Given the description of an element on the screen output the (x, y) to click on. 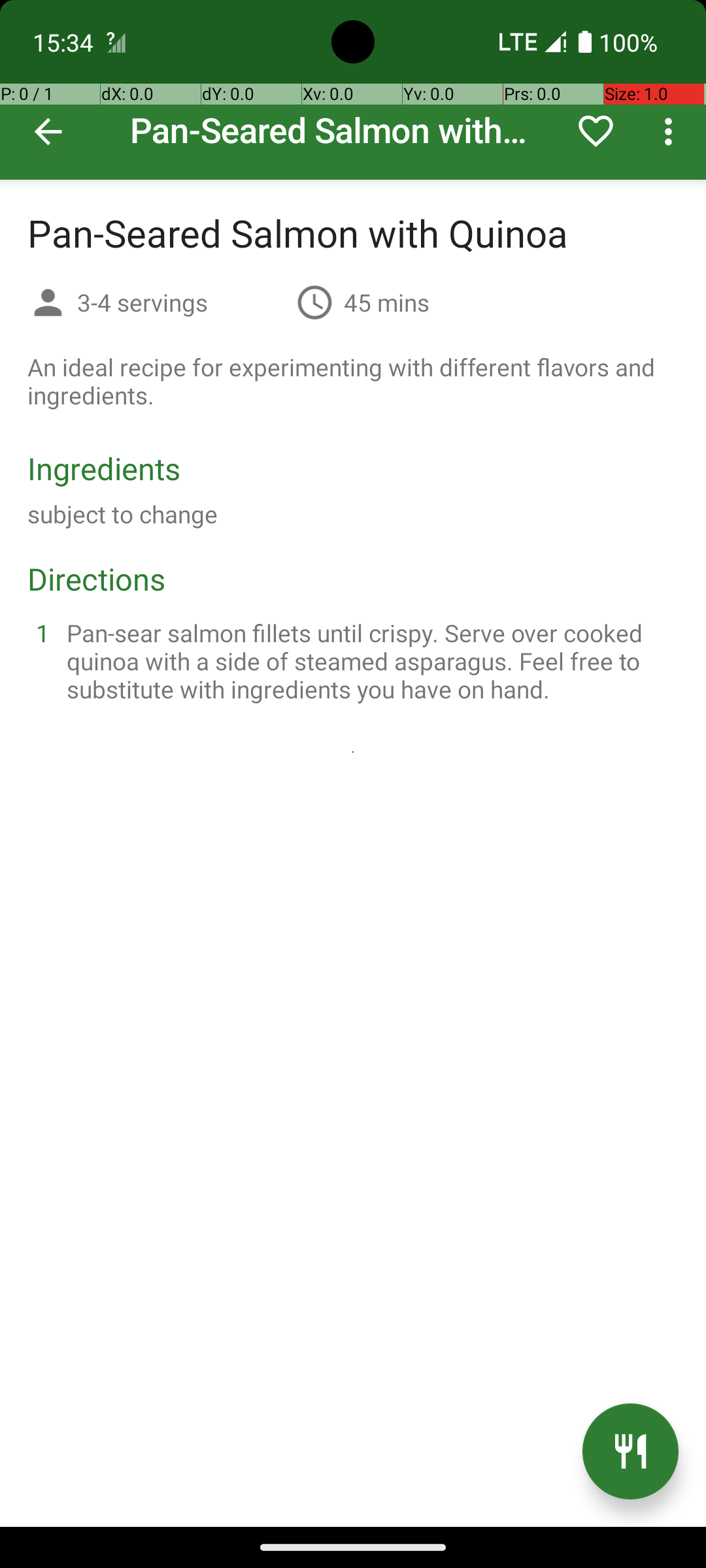
Pan-sear salmon fillets until crispy. Serve over cooked quinoa with a side of steamed asparagus. Feel free to substitute with ingredients you have on hand. Element type: android.widget.TextView (368, 660)
